Given the description of an element on the screen output the (x, y) to click on. 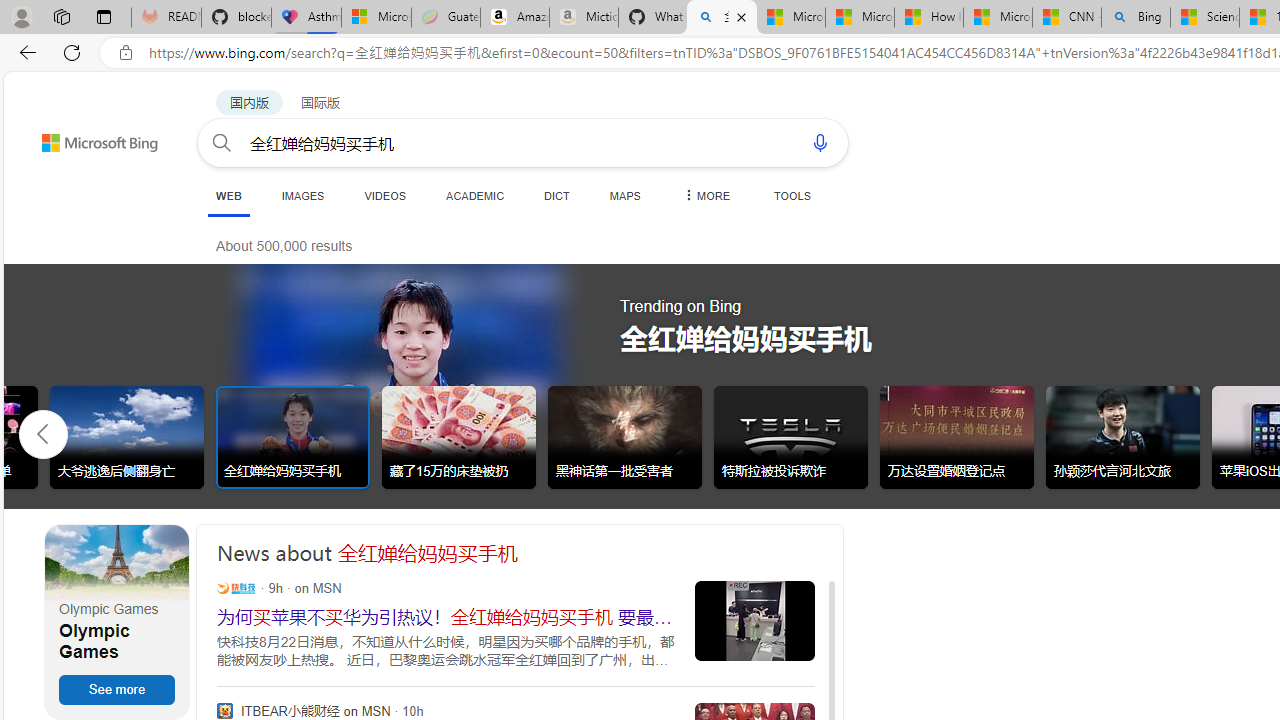
ACADEMIC (475, 195)
Back (24, 52)
VIDEOS (384, 195)
WEB (228, 196)
VIDEOS (384, 195)
WEB (228, 195)
Science - MSN (1205, 17)
Click to scroll left (43, 432)
